Given the description of an element on the screen output the (x, y) to click on. 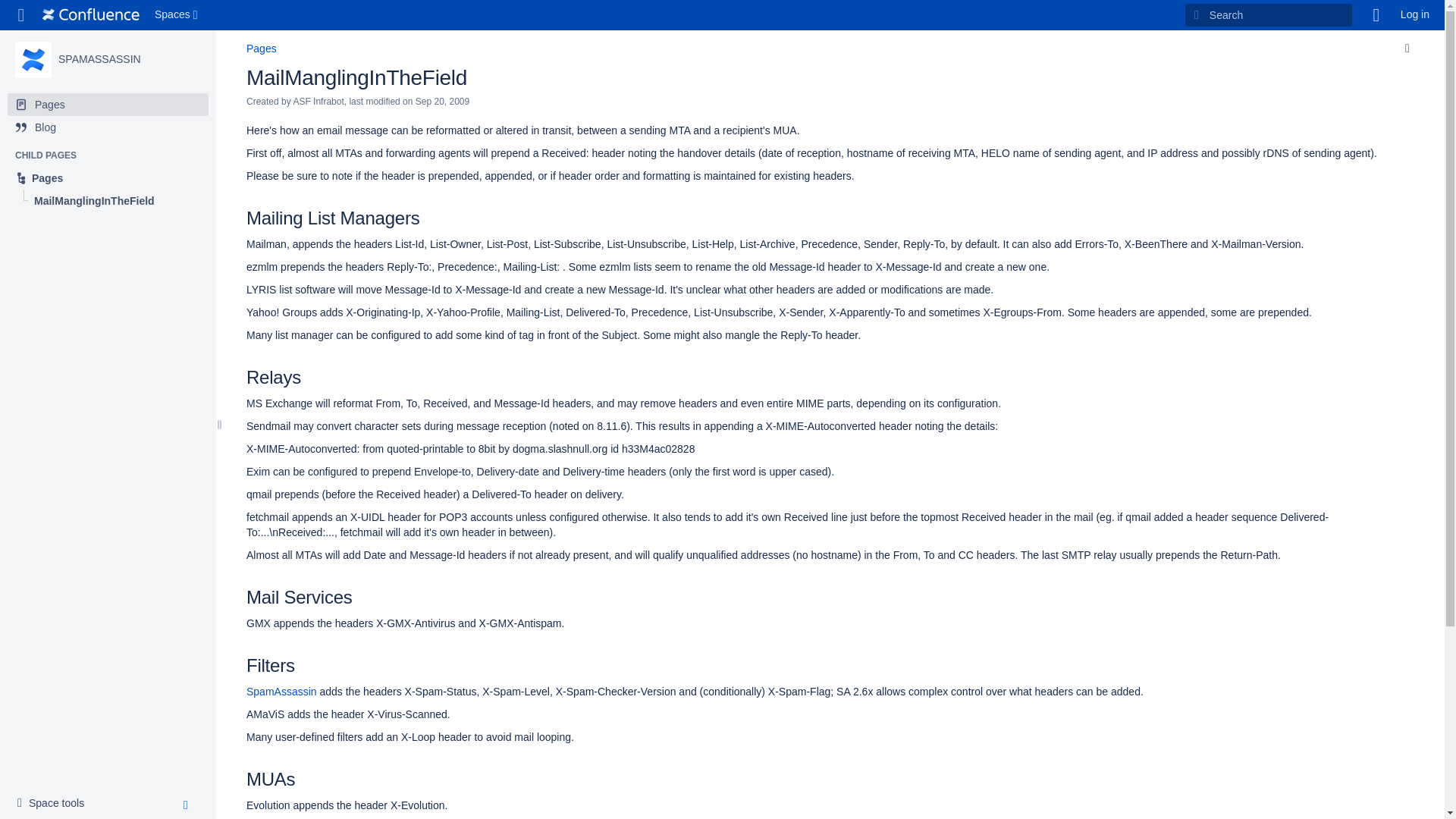
MailManglingInTheField (356, 77)
Log in (1415, 15)
ASF Infrabot (317, 101)
Spaces (177, 15)
Pages (107, 104)
Help (1376, 15)
SPAMASSASSIN (99, 59)
Linked Applications (20, 15)
Pages (107, 178)
SPAMASSASSIN (32, 59)
SPAMASSASSIN (99, 59)
Pages (107, 178)
Pages (261, 48)
Blog (107, 127)
Help (1376, 15)
